Given the description of an element on the screen output the (x, y) to click on. 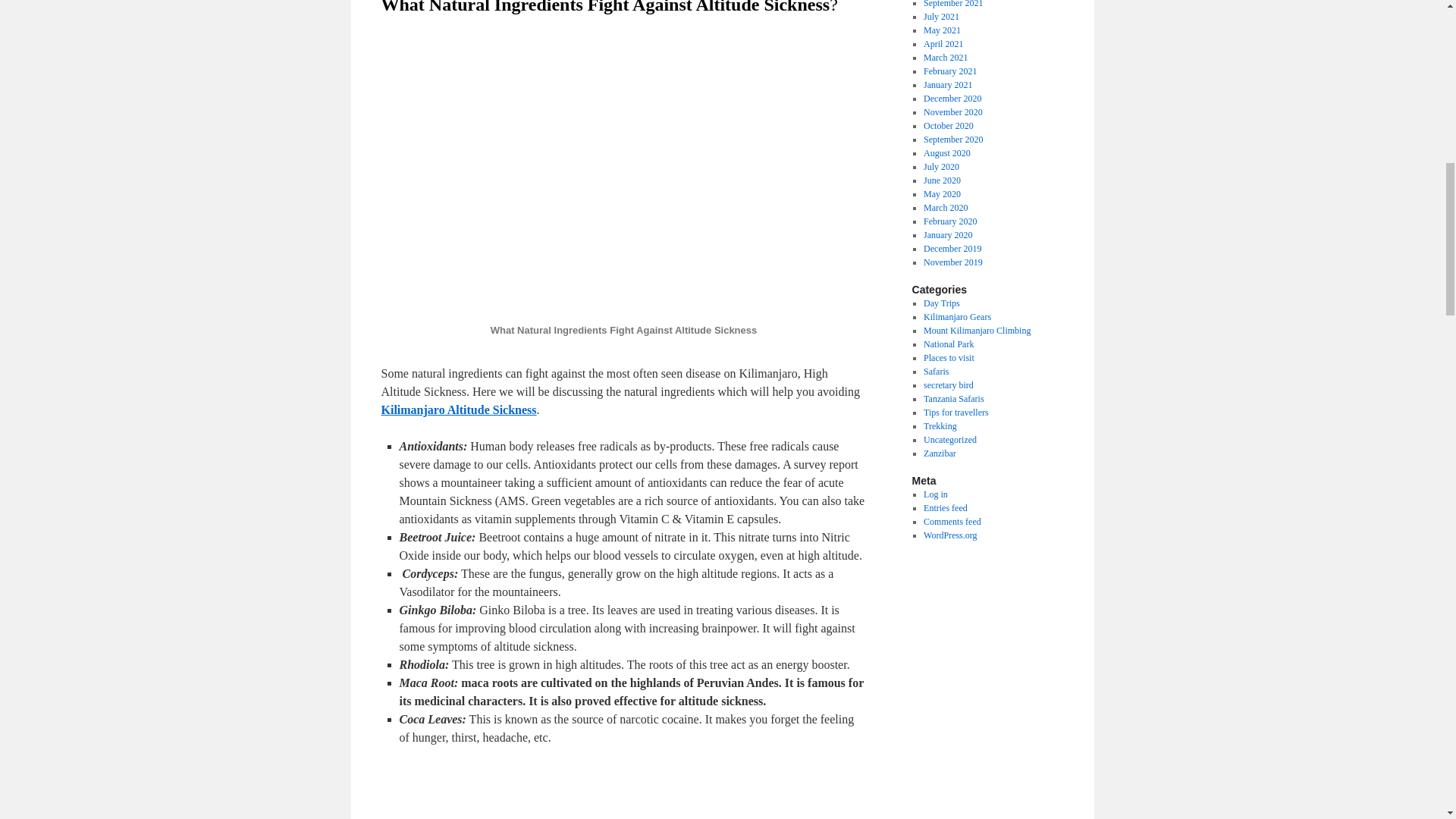
September 2021 (952, 4)
July 2021 (941, 16)
Kilimanjaro Altitude Sickness (457, 409)
May 2021 (941, 30)
